Given the description of an element on the screen output the (x, y) to click on. 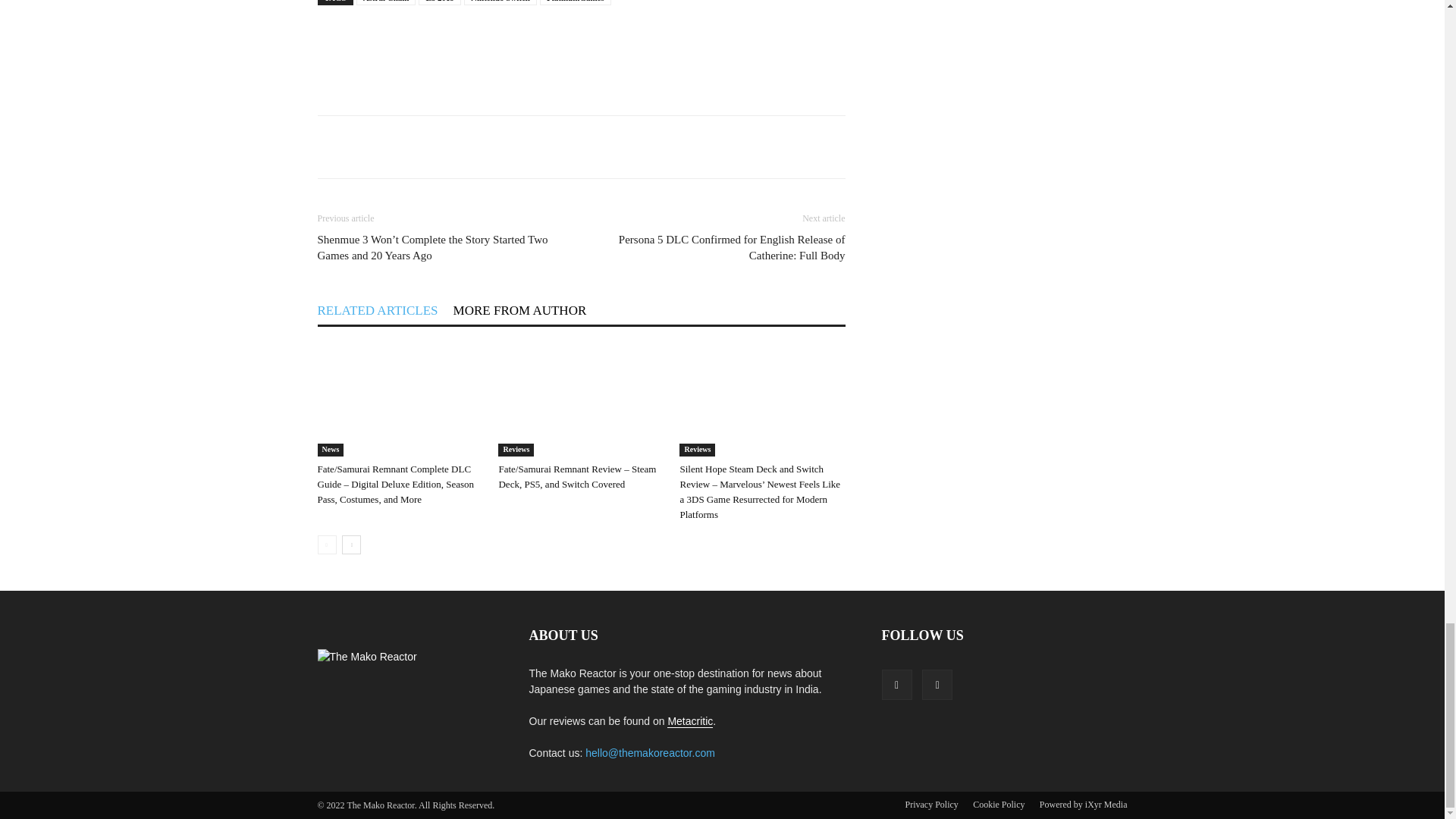
RELATED ARTICLES (377, 310)
Astral Chain (386, 2)
E3 2019 (440, 2)
MORE FROM AUTHOR (519, 310)
Nintendo Switch (500, 2)
PlatinumGames (575, 2)
